Given the description of an element on the screen output the (x, y) to click on. 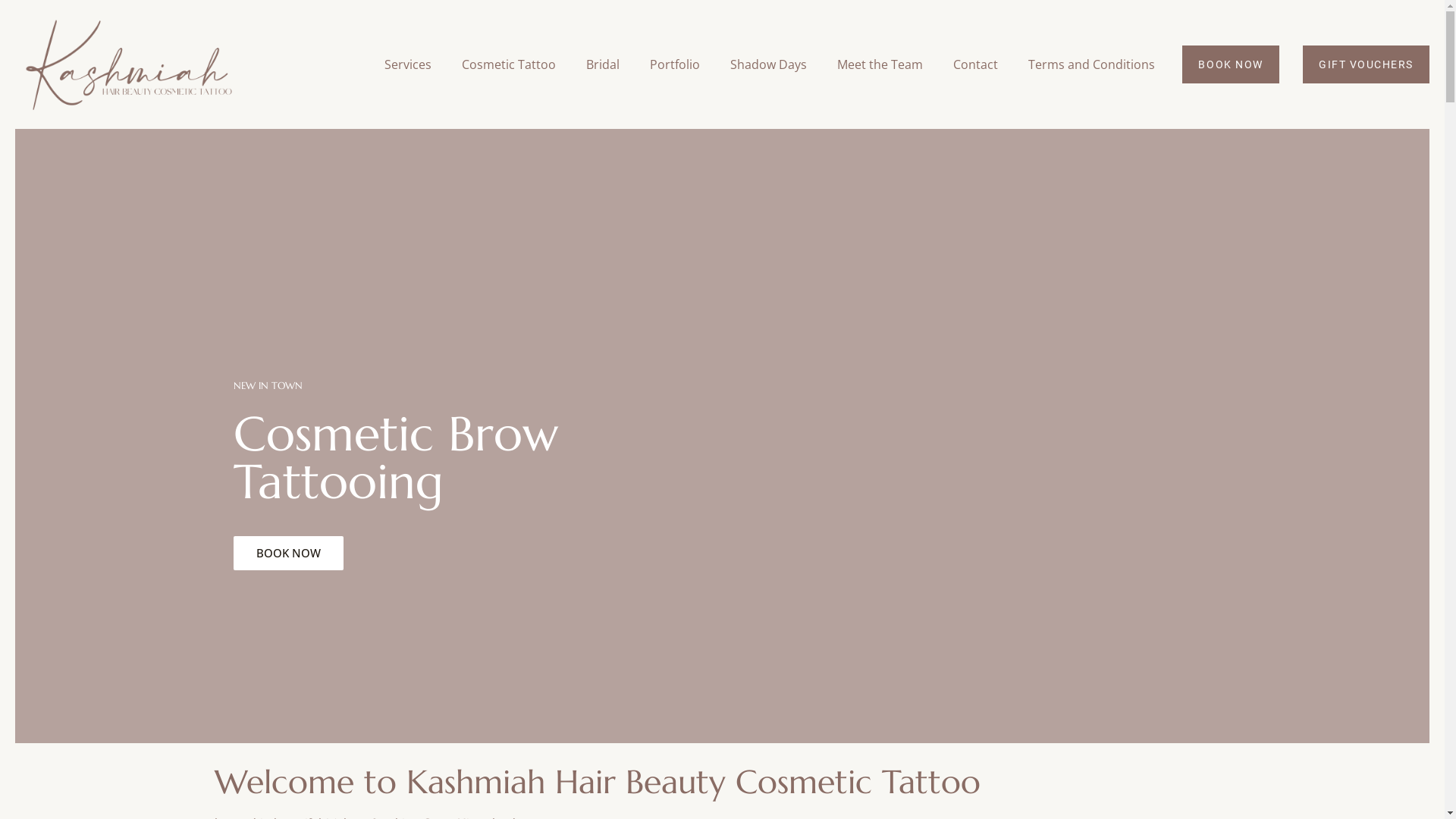
Shadow Days Element type: text (768, 64)
Meet the Team Element type: text (879, 64)
Cosmetic Tattoo Element type: text (508, 64)
GIFT VOUCHERS Element type: text (1365, 64)
Terms and Conditions Element type: text (1091, 64)
BOOK NOW Element type: text (288, 553)
Portfolio Element type: text (674, 64)
Bridal Element type: text (602, 64)
BOOK NOW Element type: text (1230, 64)
Contact Element type: text (975, 64)
Services Element type: text (407, 64)
